Given the description of an element on the screen output the (x, y) to click on. 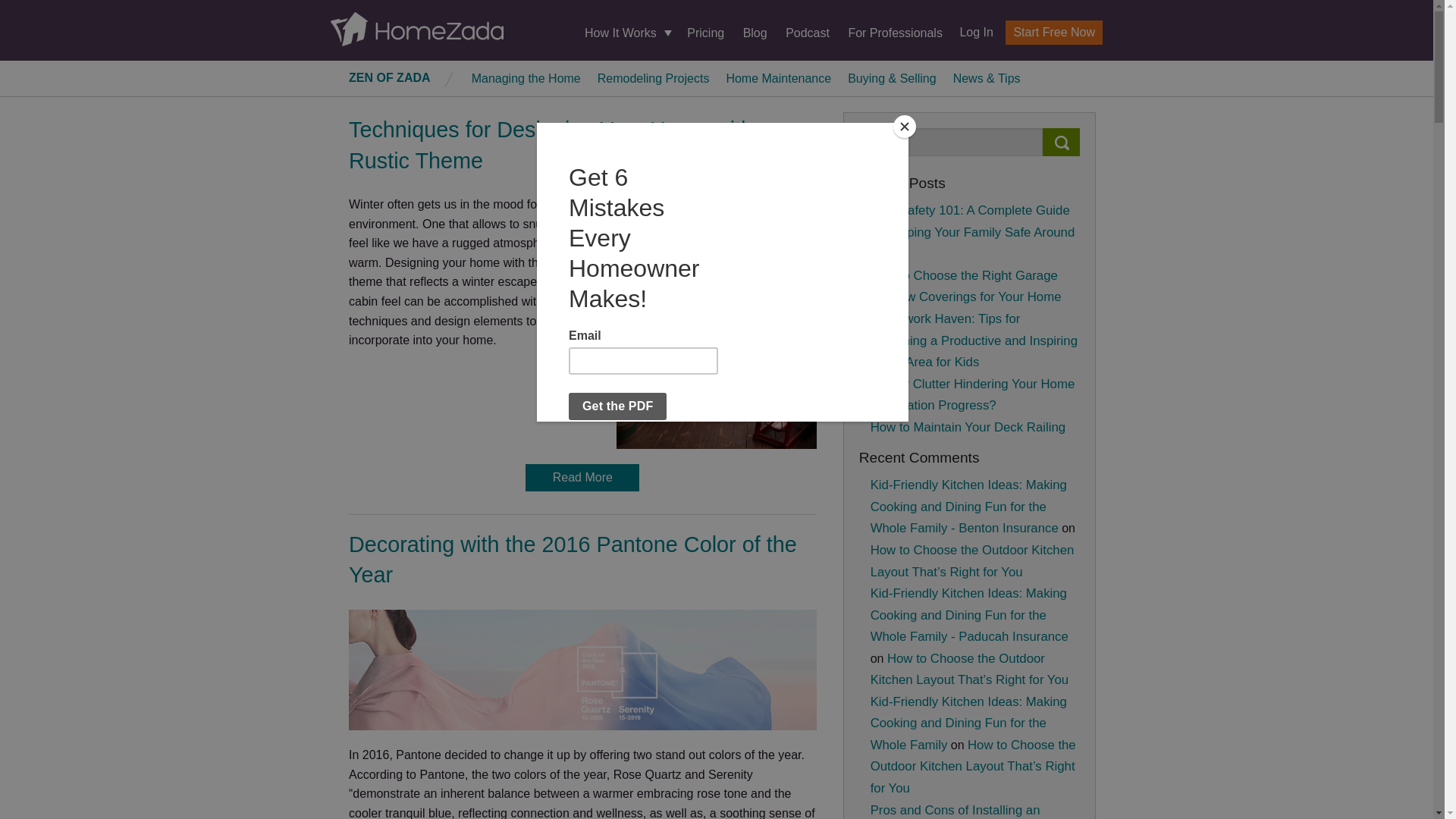
Decorating with the 2016 Pantone Color of the Year (572, 559)
How It Works (626, 33)
Podcast (807, 32)
Pricing (705, 32)
Techniques for Designing Your Home with a Rustic Theme (560, 144)
ZEN OF ZADA (389, 77)
Blog (754, 32)
Read More (582, 477)
For Professionals (894, 32)
Remodeling Projects (653, 77)
Managing the Home (525, 77)
Log In (969, 31)
Home Maintenance (778, 77)
Start Free Now (1054, 32)
